Given the description of an element on the screen output the (x, y) to click on. 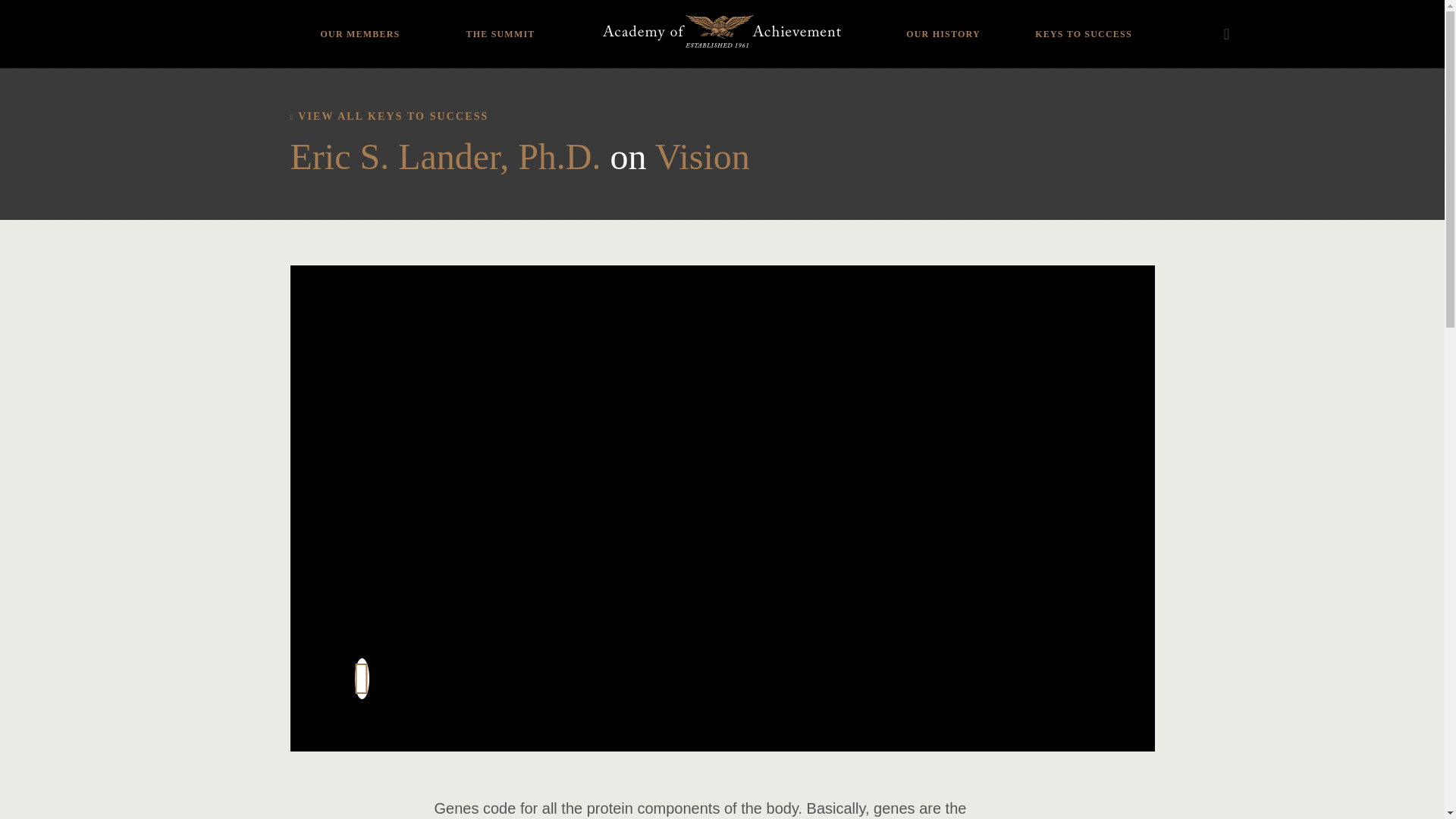
GOLDEN PLATE AWARDEES (943, 18)
2003 (464, 5)
ACHIEVER UNIVERSE (359, 23)
2002 (464, 23)
SPORTS (359, 5)
OUR MEMBERS (359, 22)
KEYS TO SUCCESS (1083, 22)
OUR HISTORY (943, 22)
THE SUMMIT (500, 22)
